Given the description of an element on the screen output the (x, y) to click on. 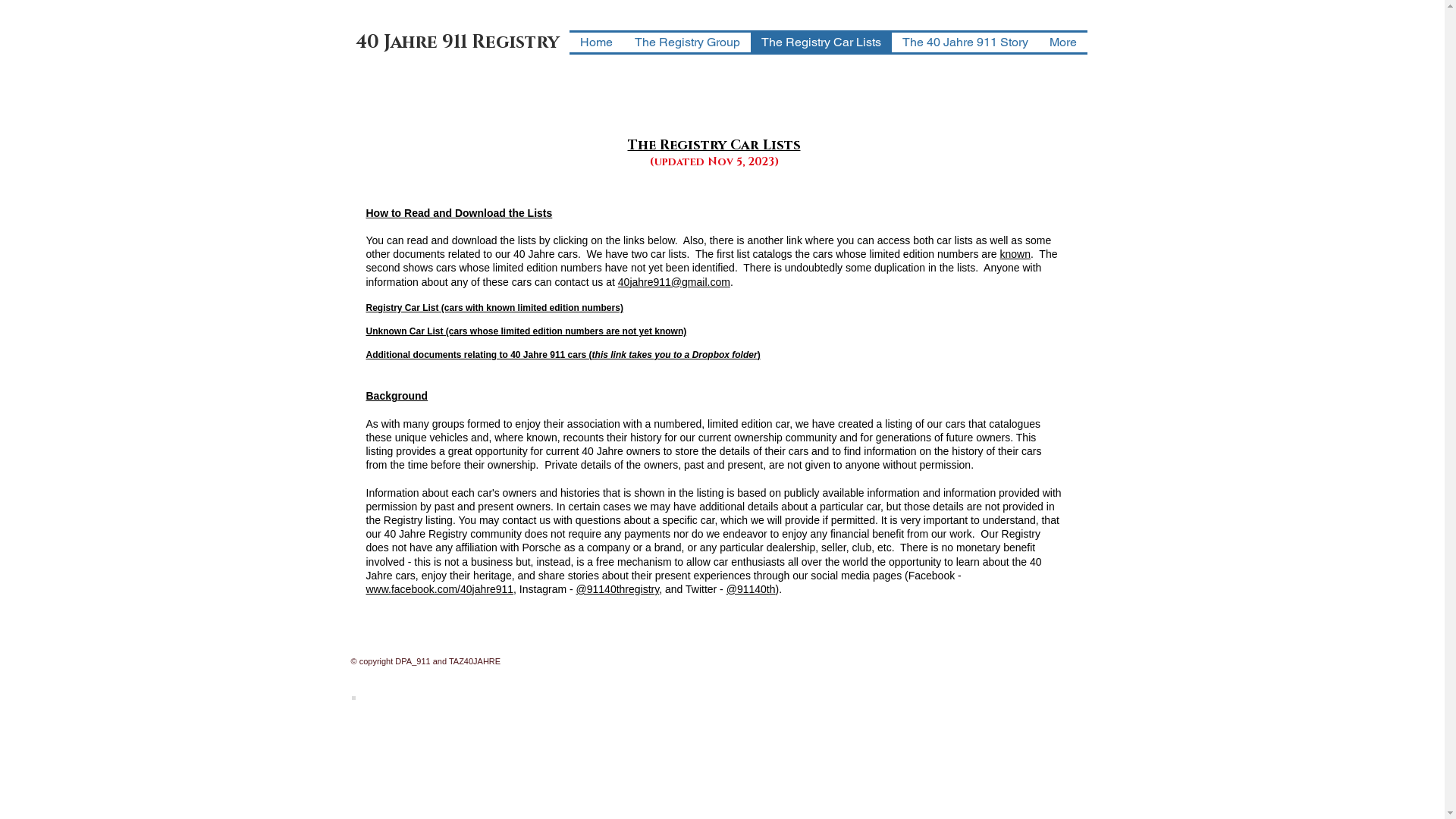
@91140thregistry Element type: text (617, 589)
40jahre911@gmail.com Element type: text (674, 282)
www.facebook.com/40jahre911 Element type: text (439, 589)
The Registry Car Lists Element type: text (820, 42)
@91140th Element type: text (750, 589)
Registry Car List (cars with known limited edition numbers) Element type: text (493, 307)
Home Element type: text (595, 42)
40 Jahre 911 Element type: text (410, 42)
Embedded Content Element type: hover (353, 697)
The 40 Jahre 911 Story Element type: text (964, 42)
The Registry Group Element type: text (686, 42)
